Given the description of an element on the screen output the (x, y) to click on. 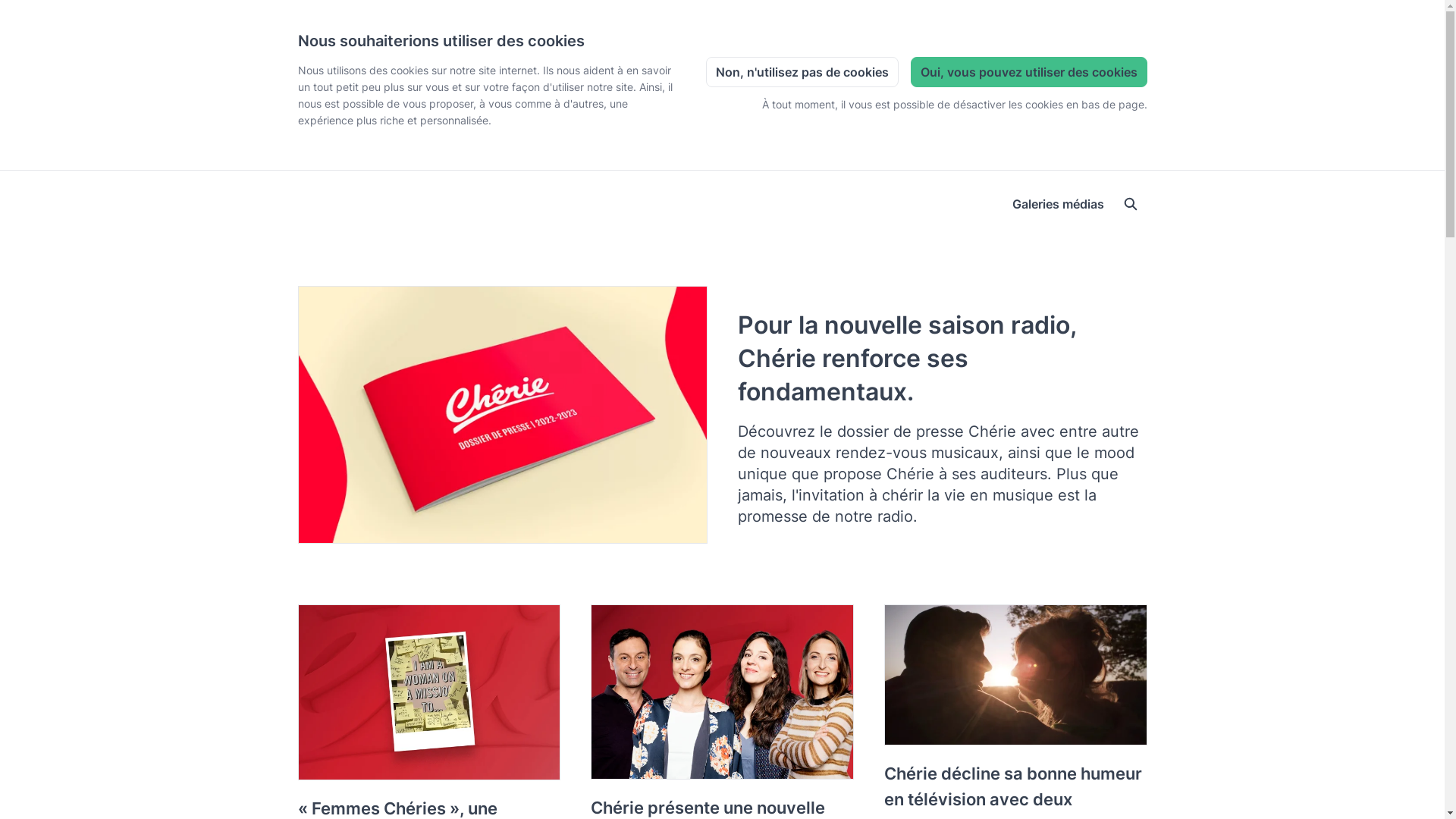
Non, n'utilisez pas de cookies Element type: text (801, 71)
Recherche Element type: hover (1129, 203)
Oui, vous pouvez utiliser des cookies Element type: text (1028, 71)
